Given the description of an element on the screen output the (x, y) to click on. 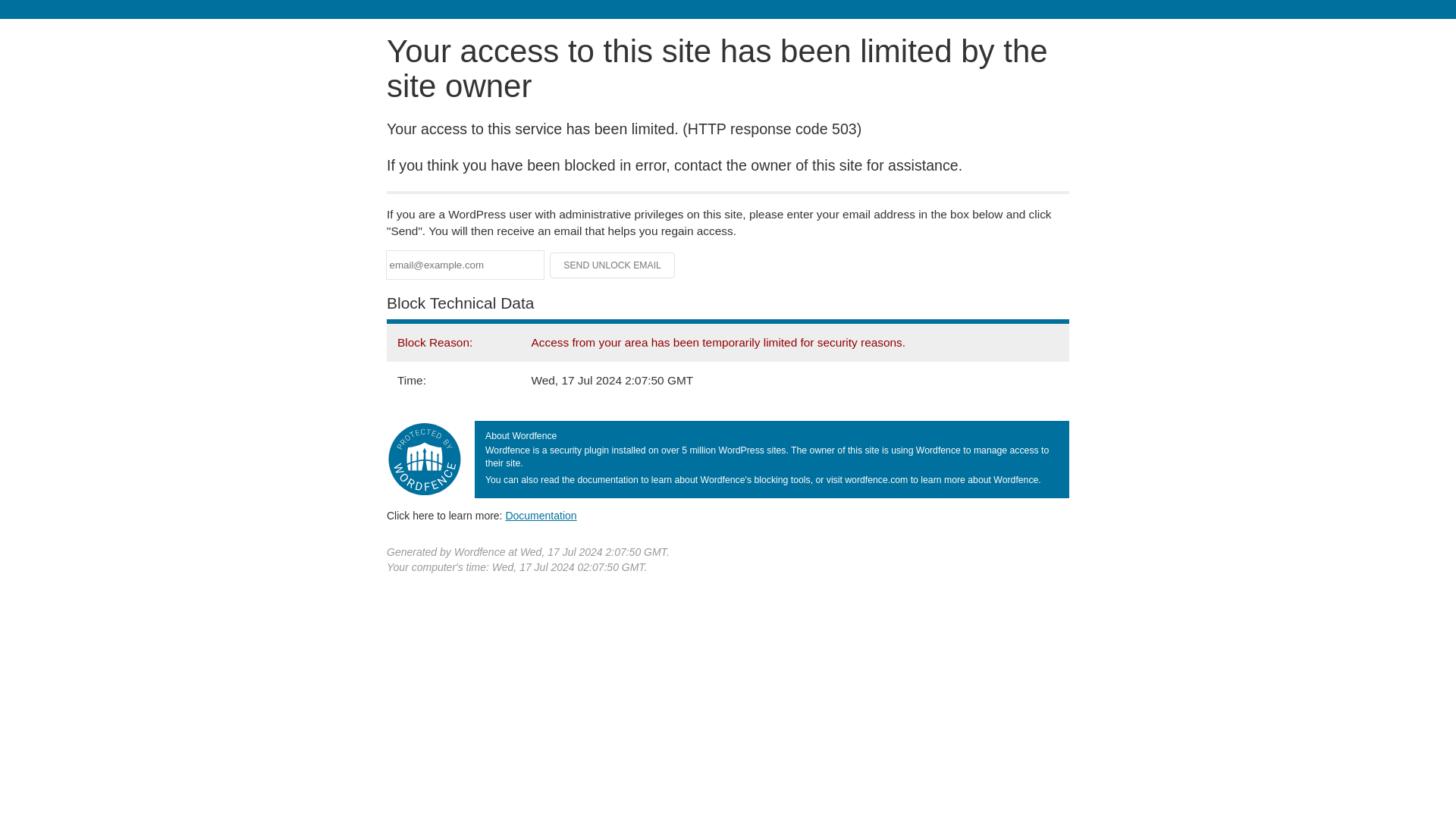
Send Unlock Email (612, 265)
Documentation (540, 515)
Send Unlock Email (612, 265)
